Given the description of an element on the screen output the (x, y) to click on. 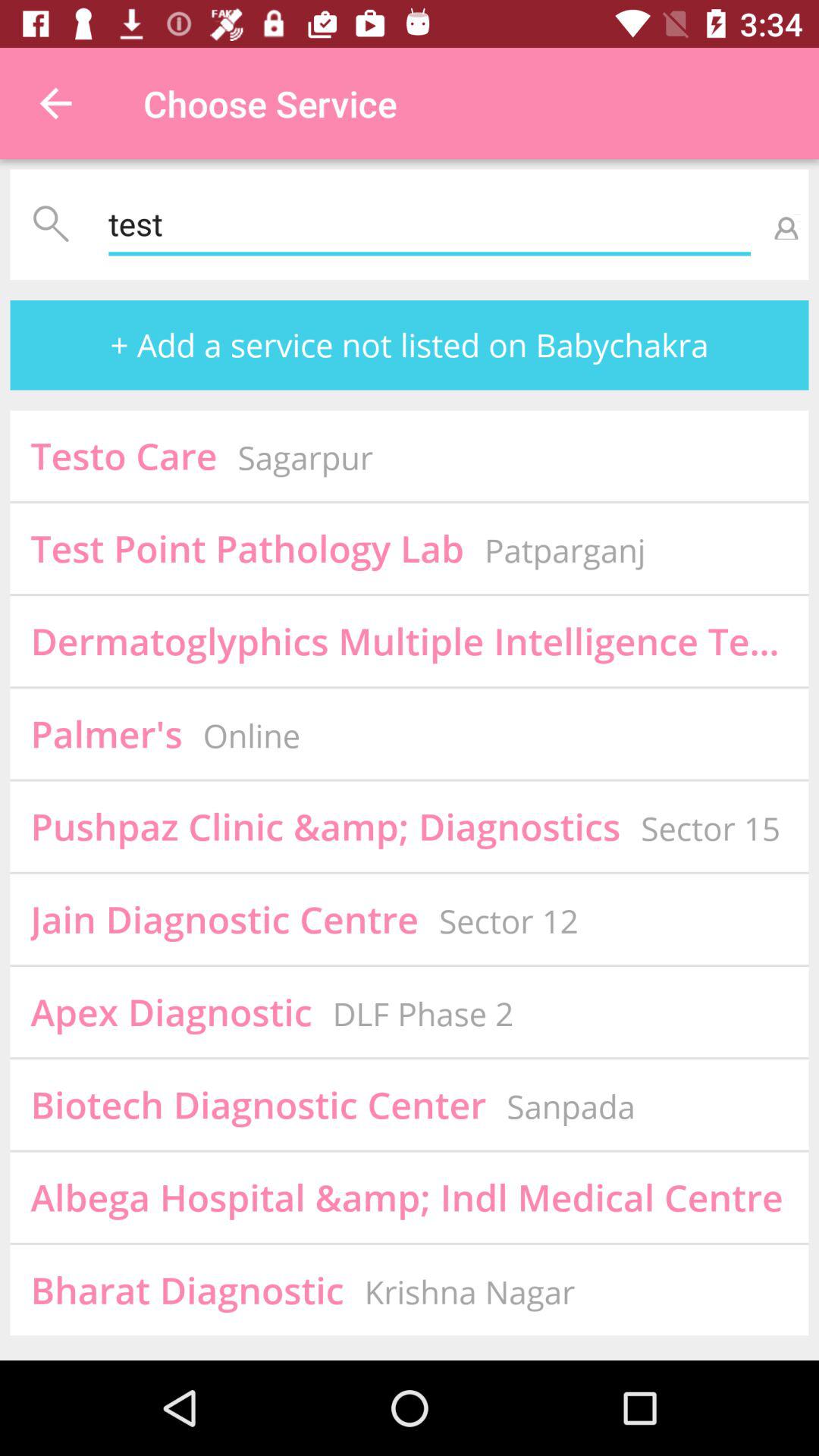
click the item below the pushpaz clinic amp icon (224, 919)
